Given the description of an element on the screen output the (x, y) to click on. 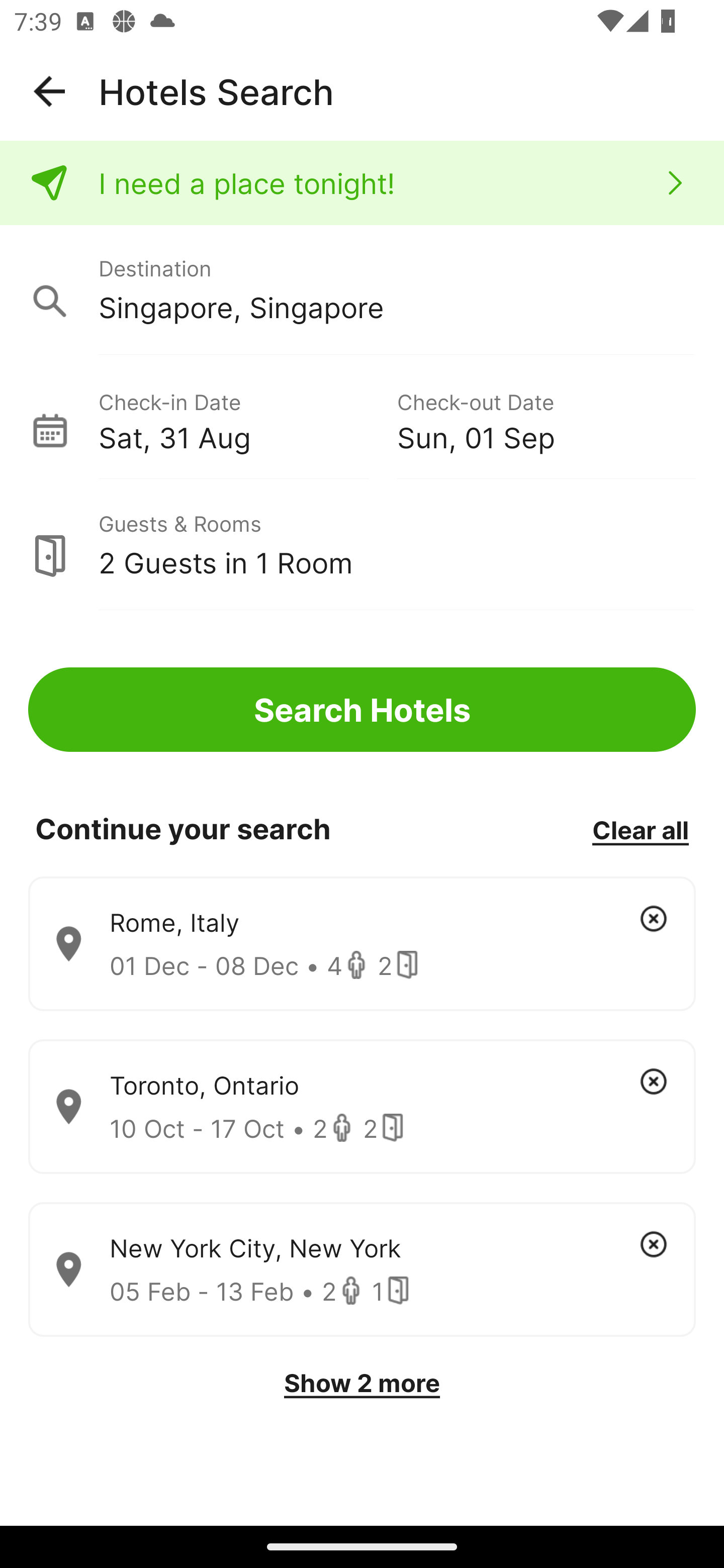
I need a place tonight! (362, 183)
Destination Singapore, Singapore (362, 290)
Check-in Date Sat, 31 Aug (247, 418)
Check-out Date Sun, 01 Sep (546, 418)
Guests & Rooms 2 Guests in 1 Room (362, 545)
Search Hotels (361, 709)
Clear all (640, 829)
Rome, Italy 01 Dec - 08 Dec • 4  2  (361, 943)
Toronto, Ontario 10 Oct - 17 Oct • 2  2  (361, 1106)
New York City, New York 05 Feb - 13 Feb • 2  1  (361, 1269)
Show 2 more (362, 1382)
